Given the description of an element on the screen output the (x, y) to click on. 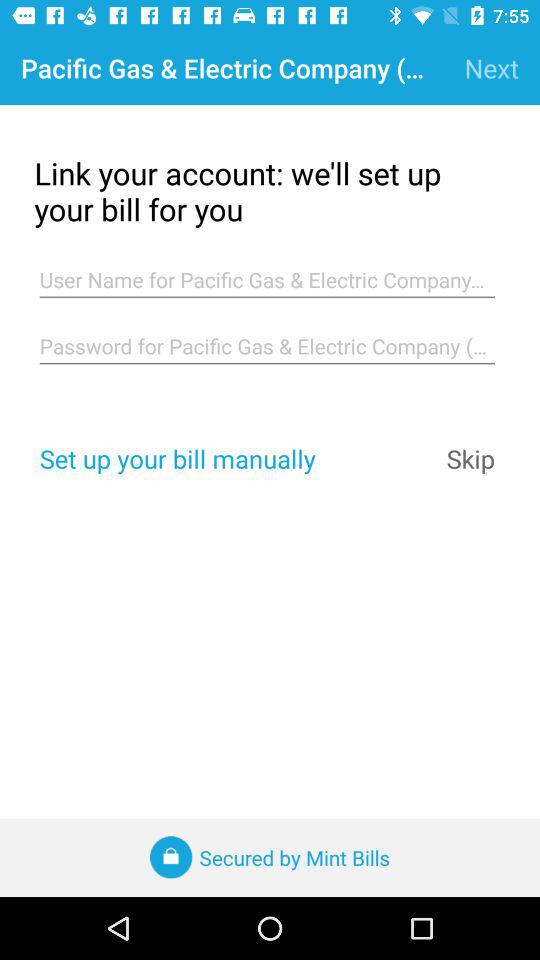
turn on skip (470, 458)
